Given the description of an element on the screen output the (x, y) to click on. 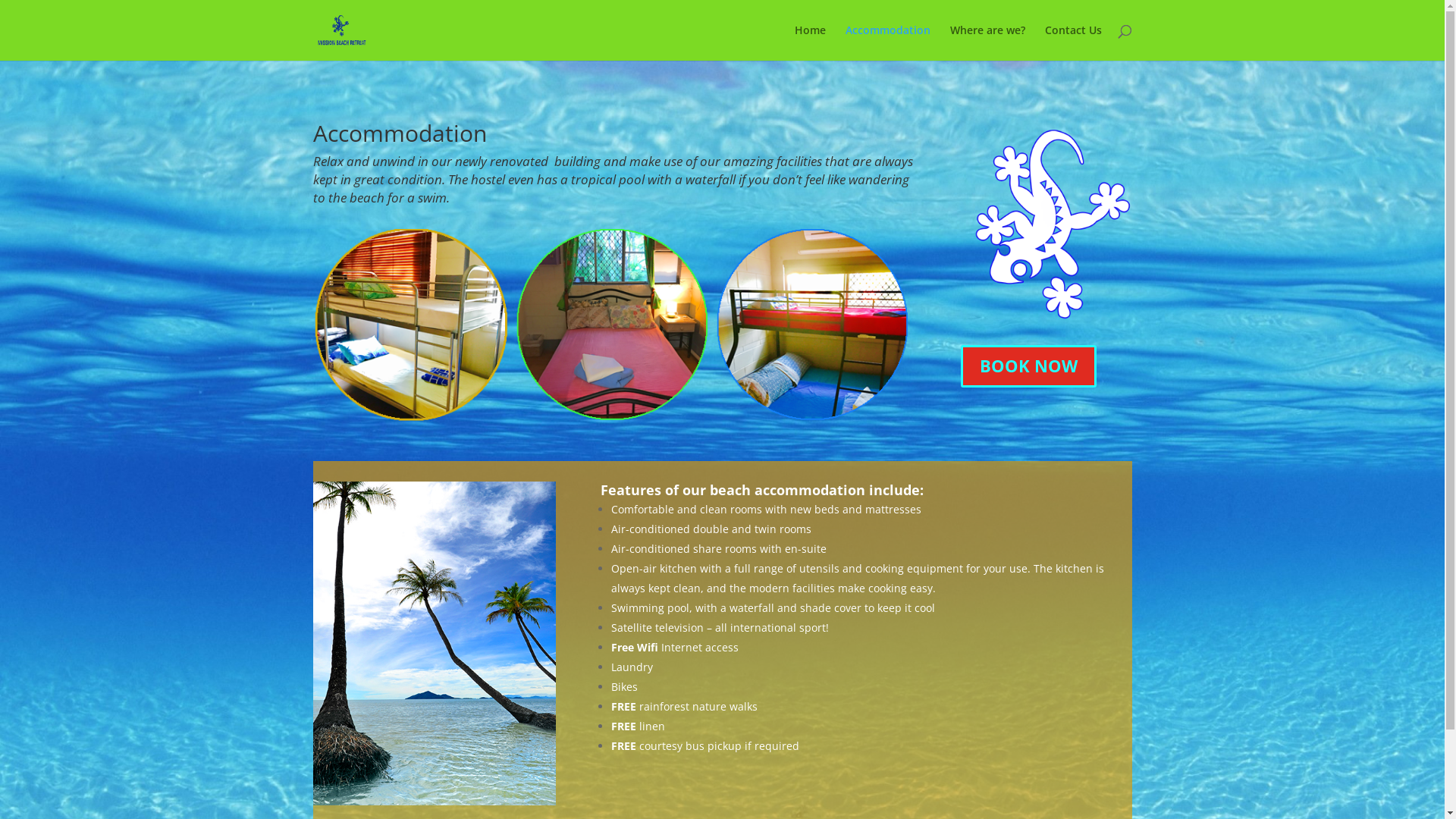
Accommodation Element type: text (886, 42)
Contact Us Element type: text (1072, 42)
Where are we? Element type: text (986, 42)
Home Element type: text (809, 42)
BOOK NOW Element type: text (1028, 366)
